Given the description of an element on the screen output the (x, y) to click on. 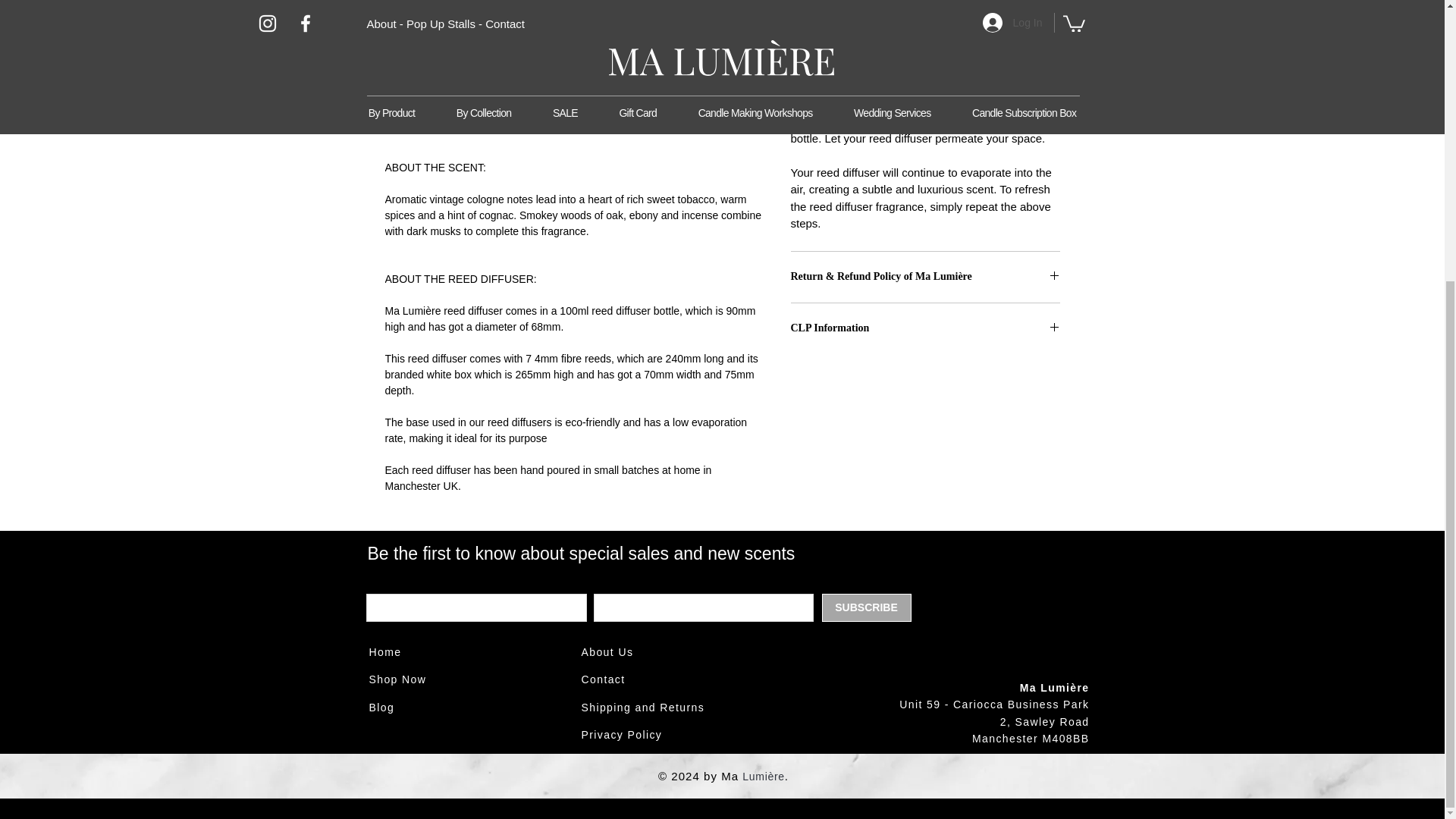
CLP Information (924, 328)
Shipping and Returns (642, 707)
About Us (606, 652)
Shop Now (397, 679)
Privacy Policy (621, 734)
Home (384, 652)
Blog (381, 707)
SUBSCRIBE (866, 607)
Contact (602, 679)
